Given the description of an element on the screen output the (x, y) to click on. 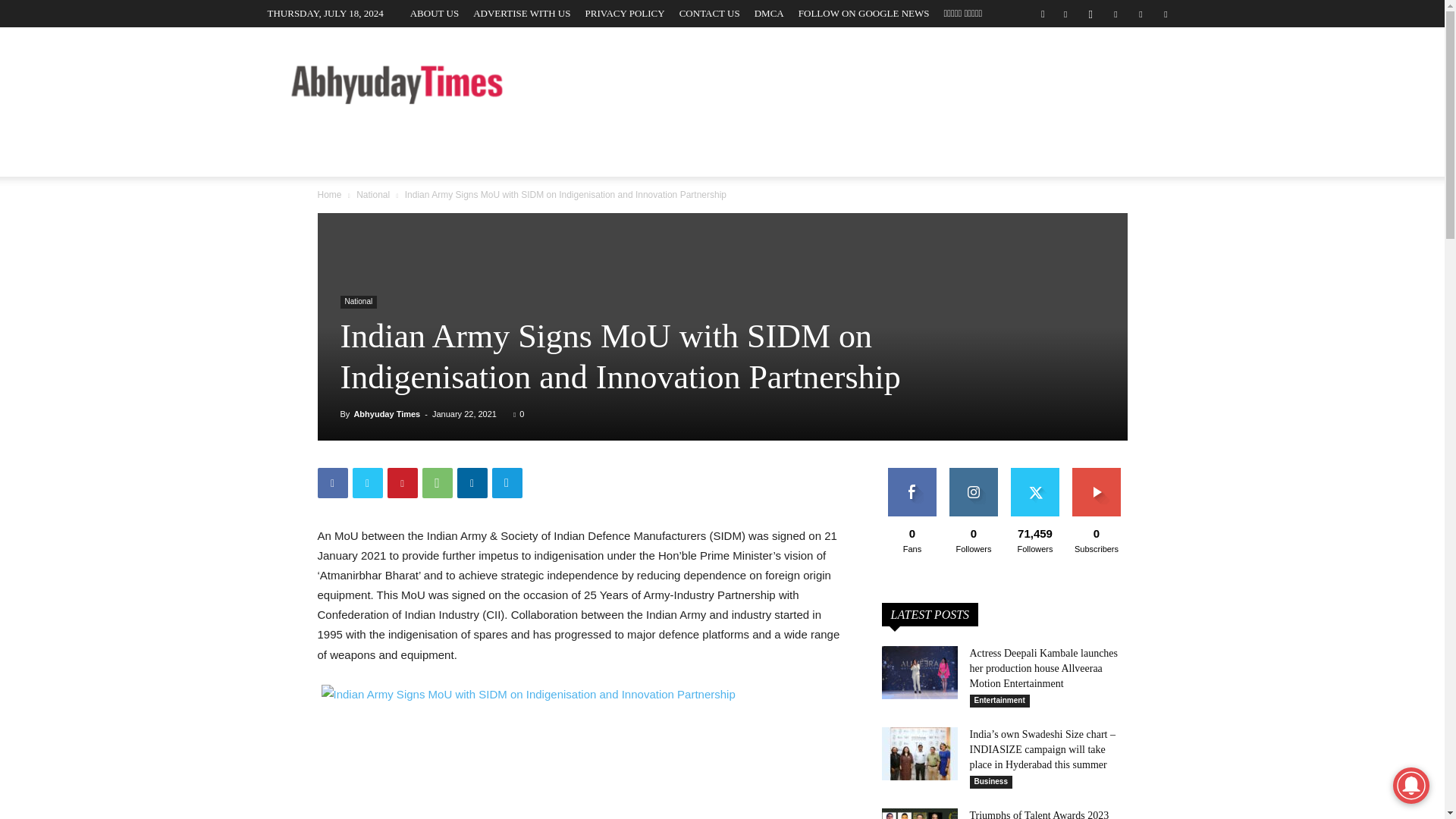
Youtube (1165, 13)
FOLLOW ON GOOGLE NEWS (863, 12)
DMCA (769, 12)
Facebook (1065, 13)
Search (1134, 70)
Twitter (1114, 13)
Pinterest (401, 482)
Vimeo (1140, 13)
ABOUT US (434, 12)
PRIVACY POLICY (625, 12)
ADVERTISE WITH US (521, 12)
